Given the description of an element on the screen output the (x, y) to click on. 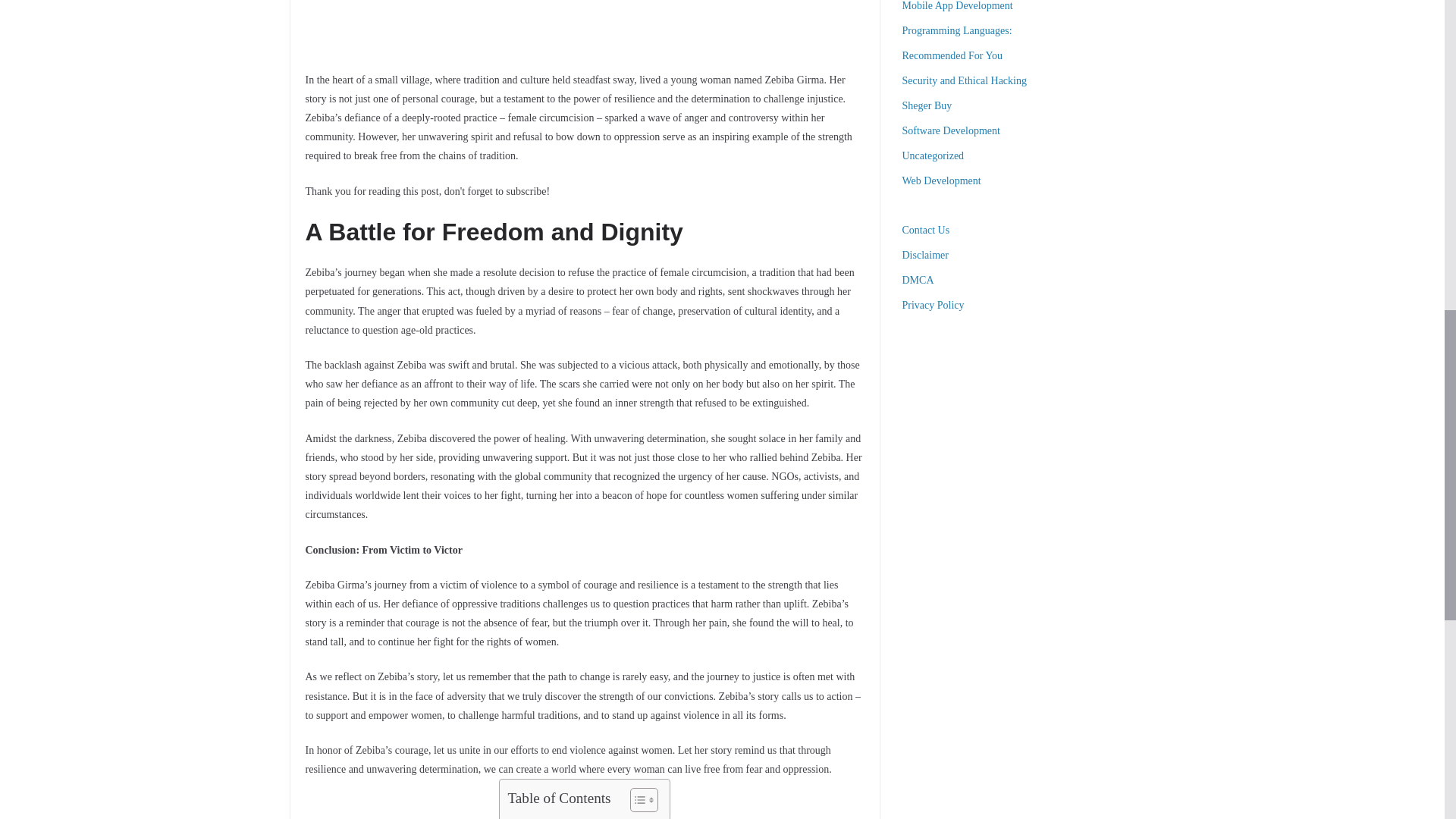
YouTube player (584, 25)
